Given the description of an element on the screen output the (x, y) to click on. 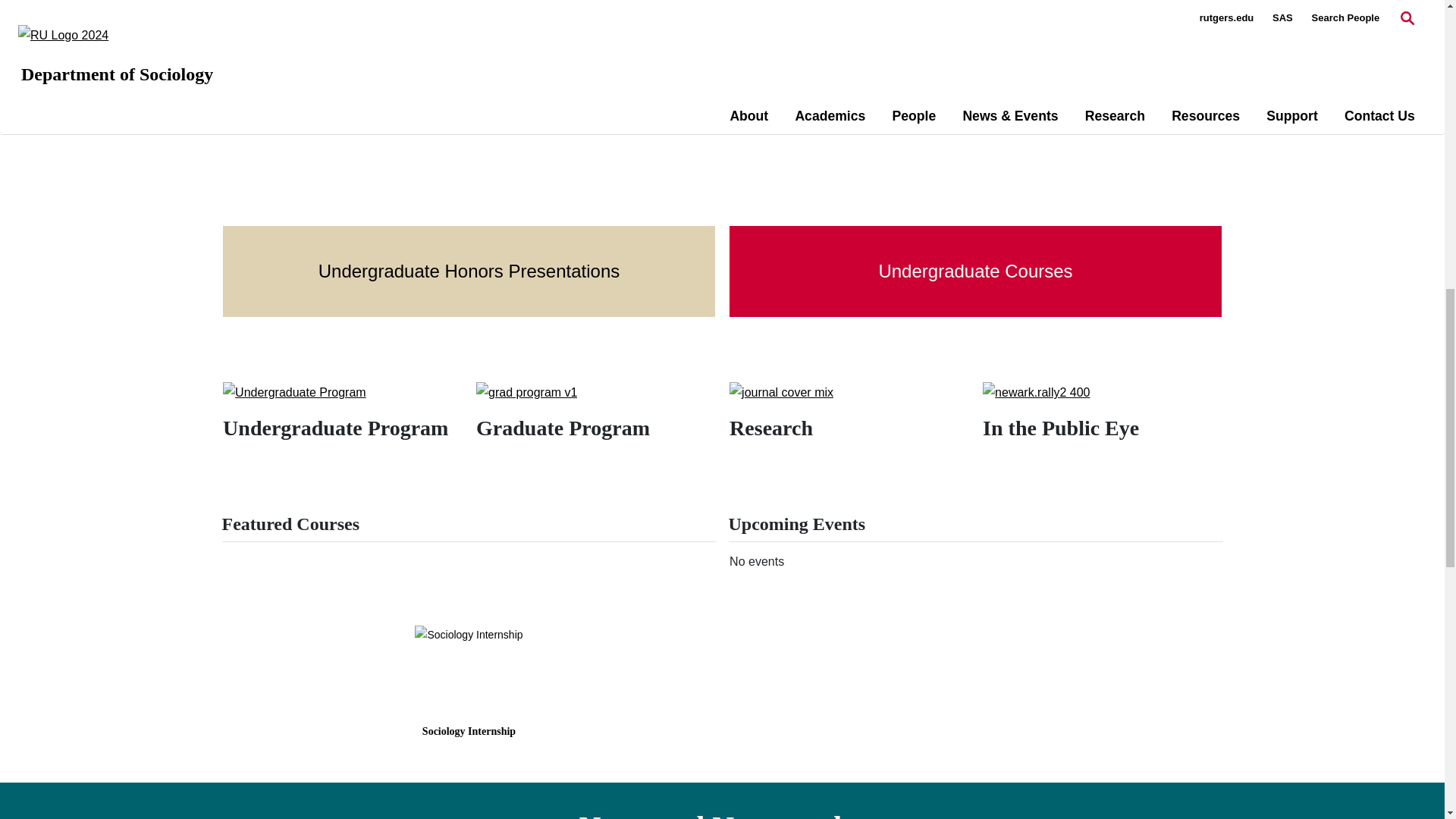
 Sociology Internship (468, 731)
 Sociology Internship (468, 634)
CONTENTS OF THE HANDBOOK (339, 64)
APPENDIX D: RESOURCES (324, 85)
VI. QUALIFYING PAPERS (317, 21)
